Given the description of an element on the screen output the (x, y) to click on. 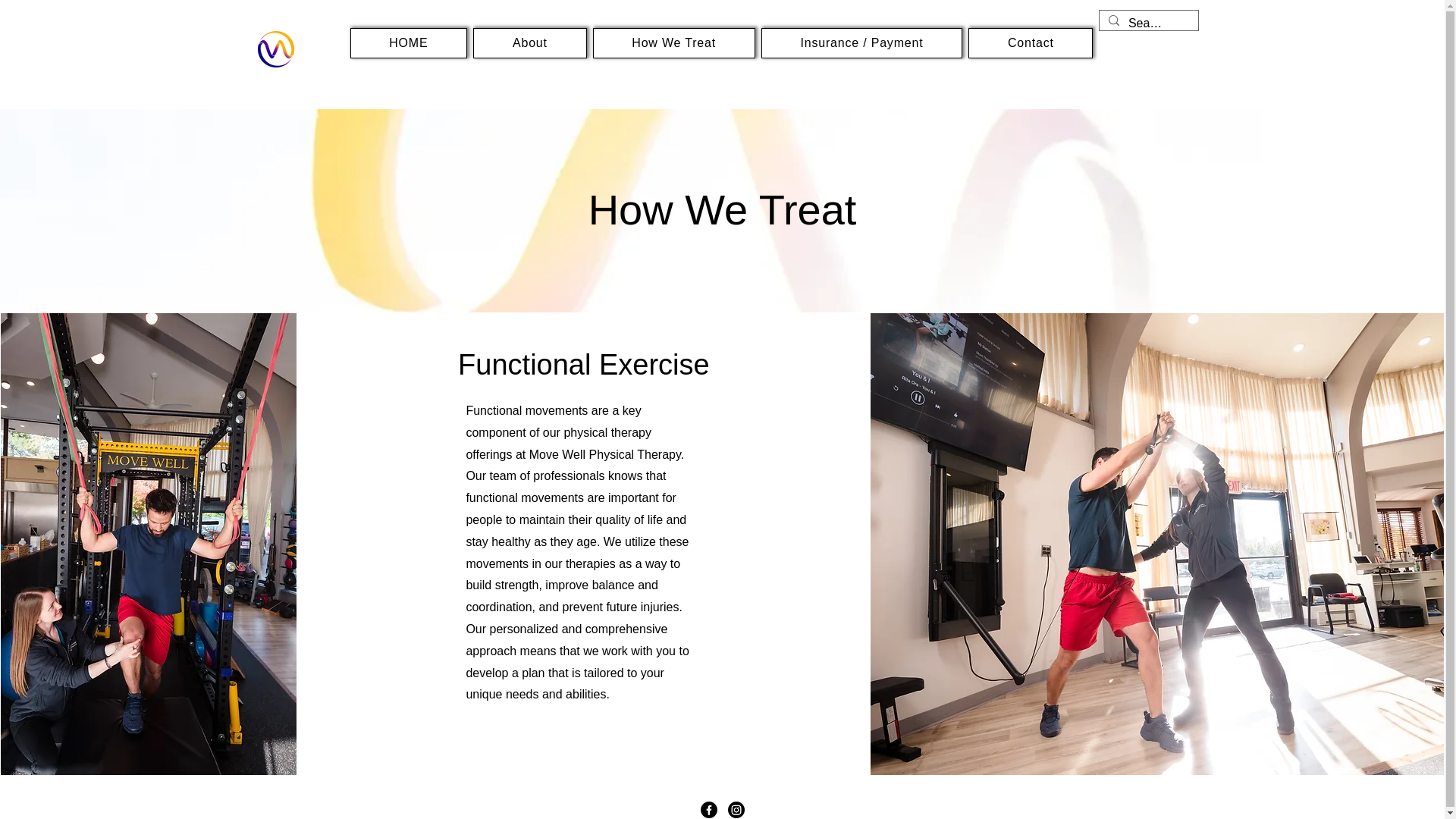
HOME (408, 42)
About (529, 42)
Contact (1030, 42)
How We Treat (673, 42)
